Given the description of an element on the screen output the (x, y) to click on. 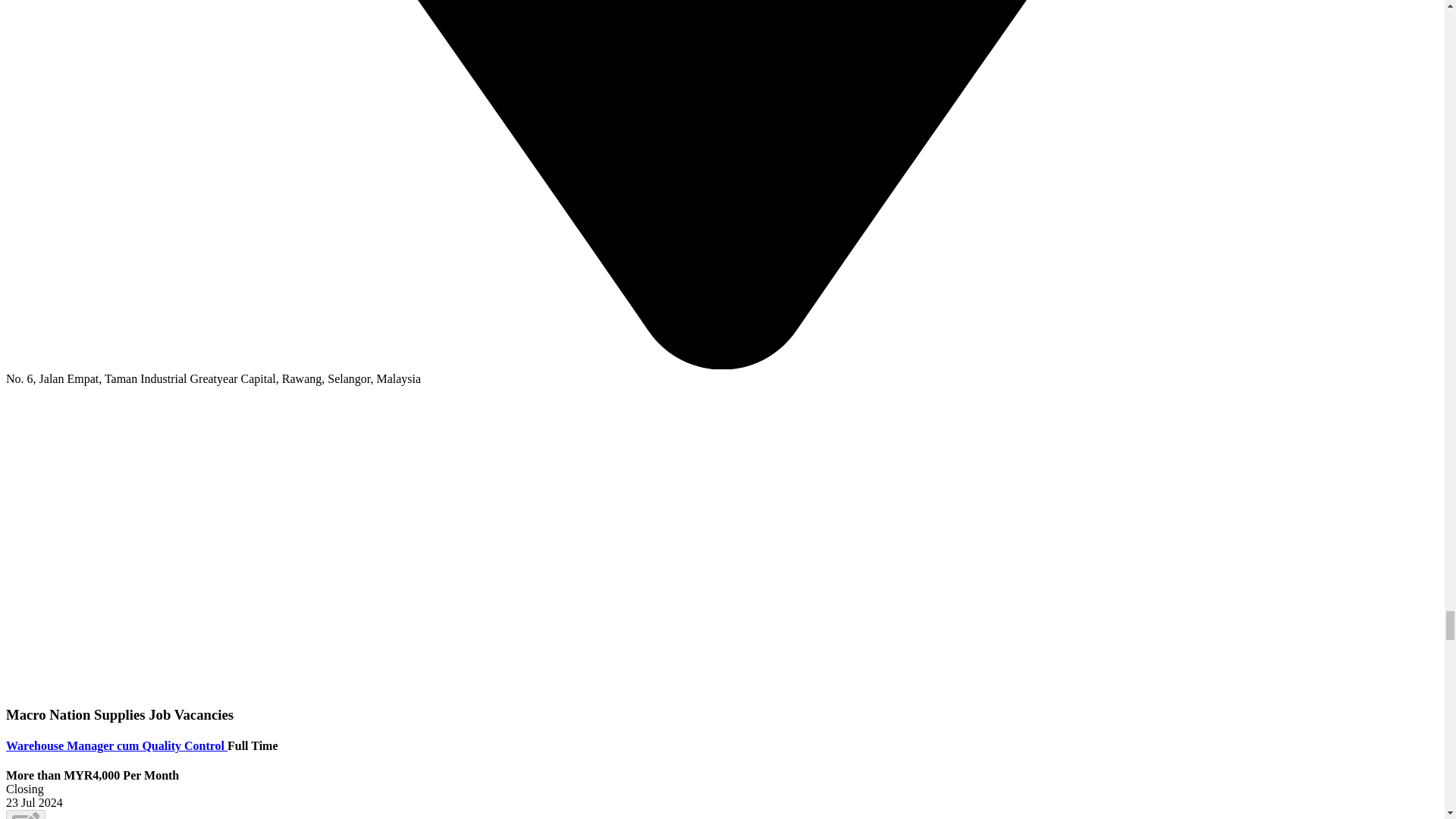
Warehouse Manager cum Quality Control (116, 745)
Warehouse Manager cum Quality Control (116, 745)
Apply (25, 814)
